Given the description of an element on the screen output the (x, y) to click on. 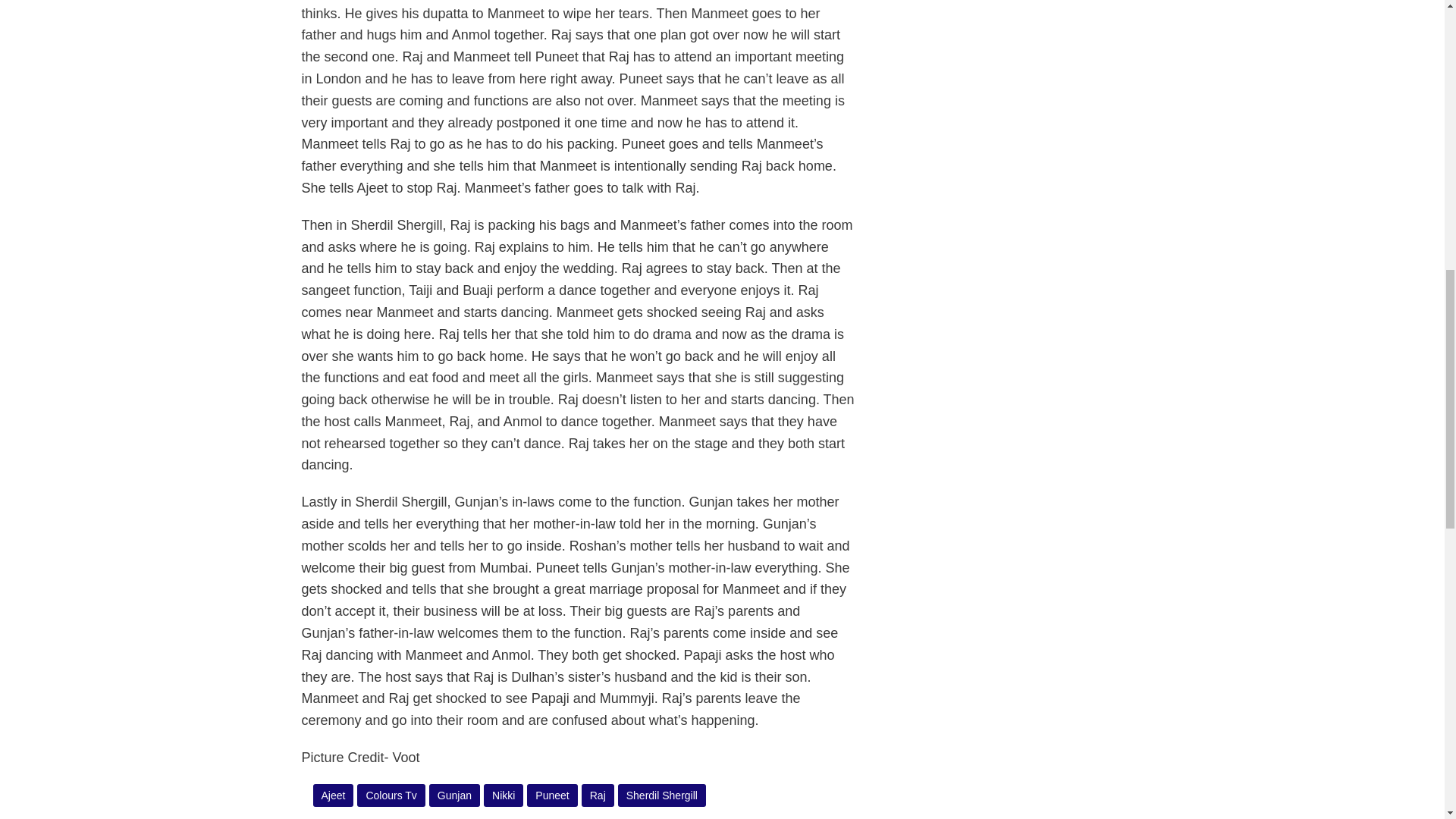
Nikki (503, 795)
Sherdil Shergill (661, 795)
Ajeet (333, 795)
Puneet (552, 795)
Gunjan (454, 795)
Raj (597, 795)
Colours Tv (390, 795)
